Given the description of an element on the screen output the (x, y) to click on. 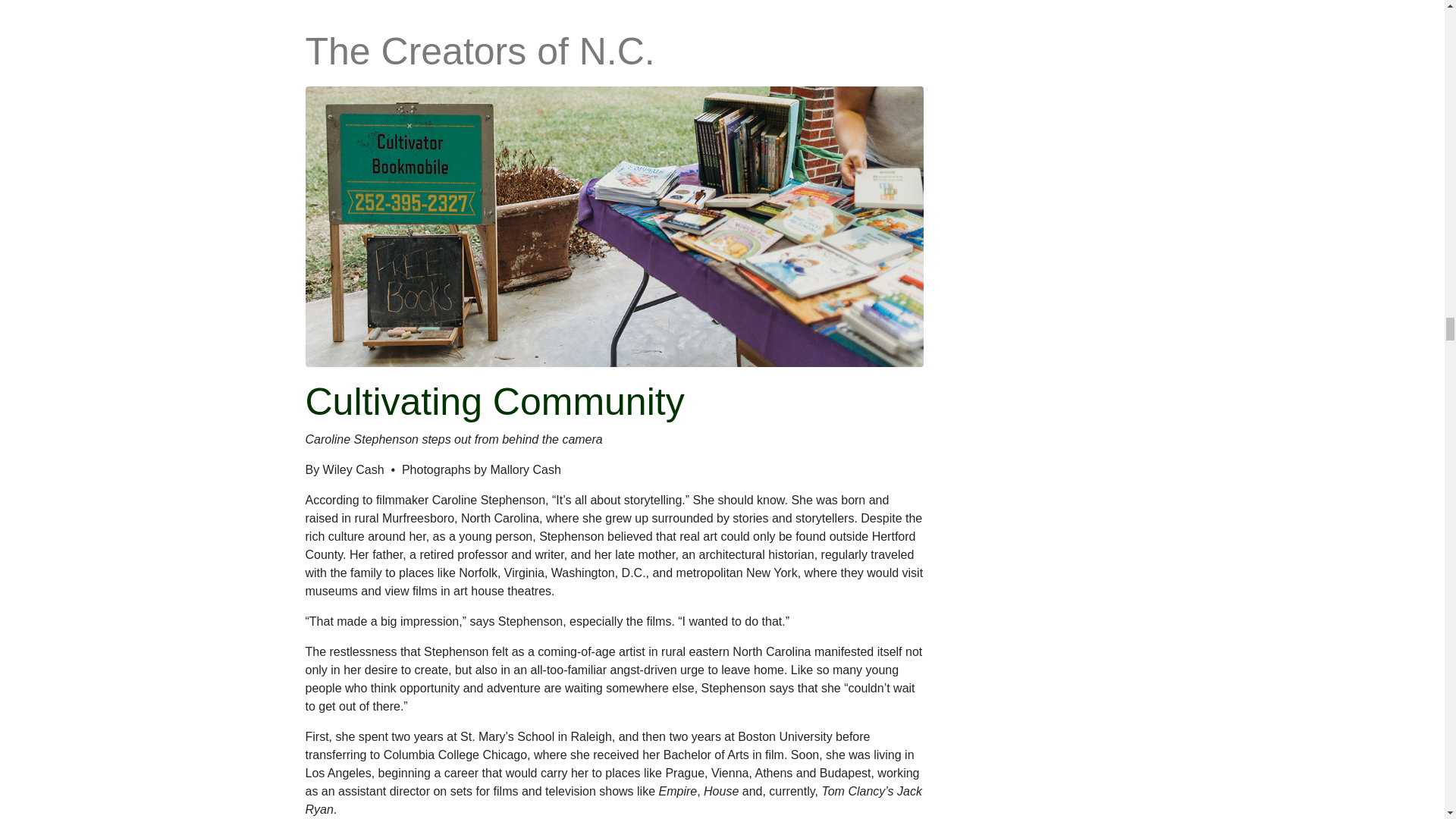
The Creators of N.C. (613, 225)
The Creators of N.C. (478, 51)
